Given the description of an element on the screen output the (x, y) to click on. 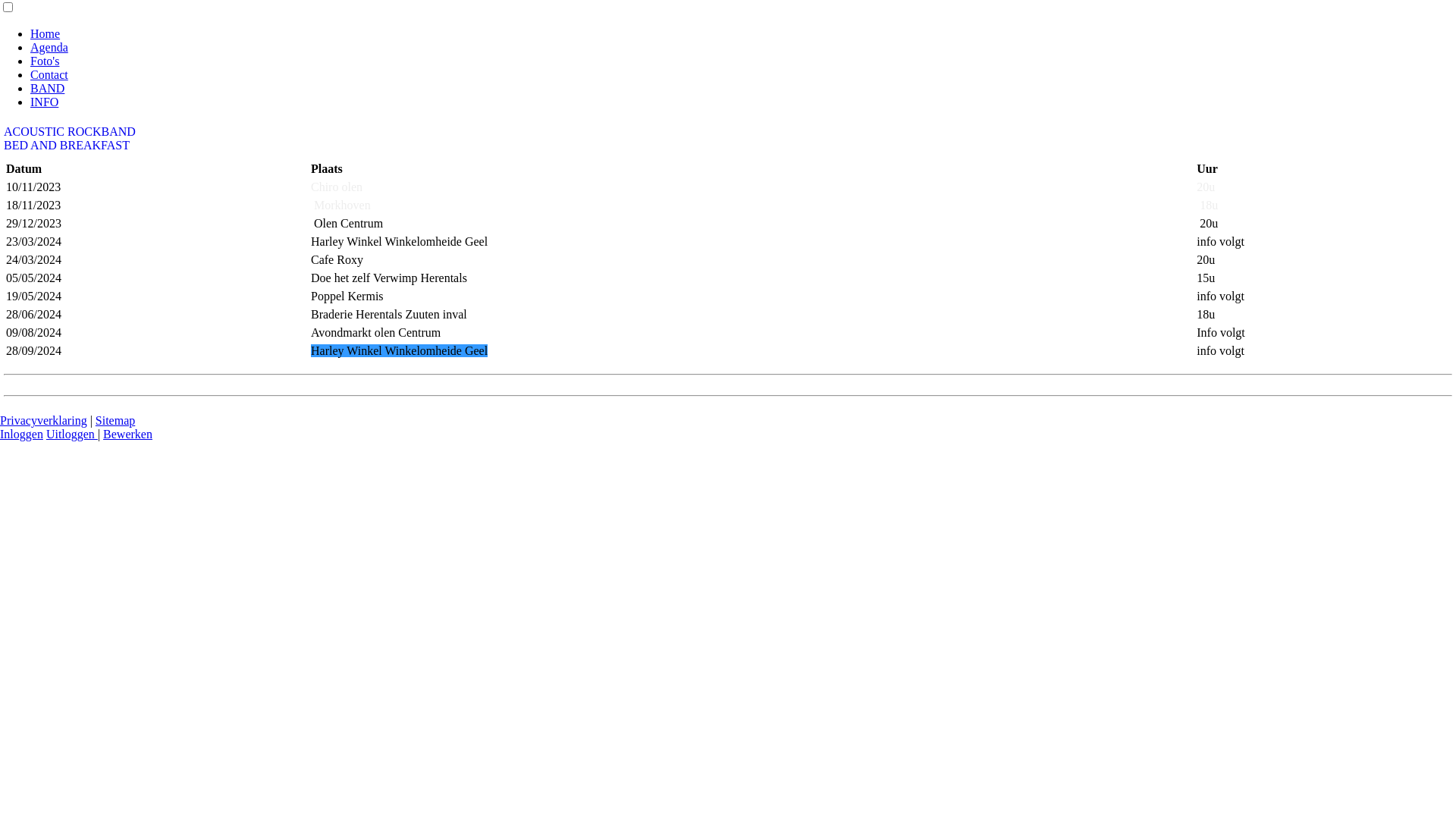
Inloggen Element type: text (21, 433)
Privacyverklaring Element type: text (43, 420)
Agenda Element type: text (49, 46)
Contact Element type: text (49, 74)
Sitemap Element type: text (114, 420)
INFO Element type: text (44, 101)
Bewerken Element type: text (127, 433)
BAND Element type: text (47, 87)
Foto's Element type: text (44, 60)
Uitloggen Element type: text (71, 433)
Home Element type: text (44, 33)
ACOUSTIC ROCKBAND 
BED AND BREAKFAST Element type: text (70, 138)
